Given the description of an element on the screen output the (x, y) to click on. 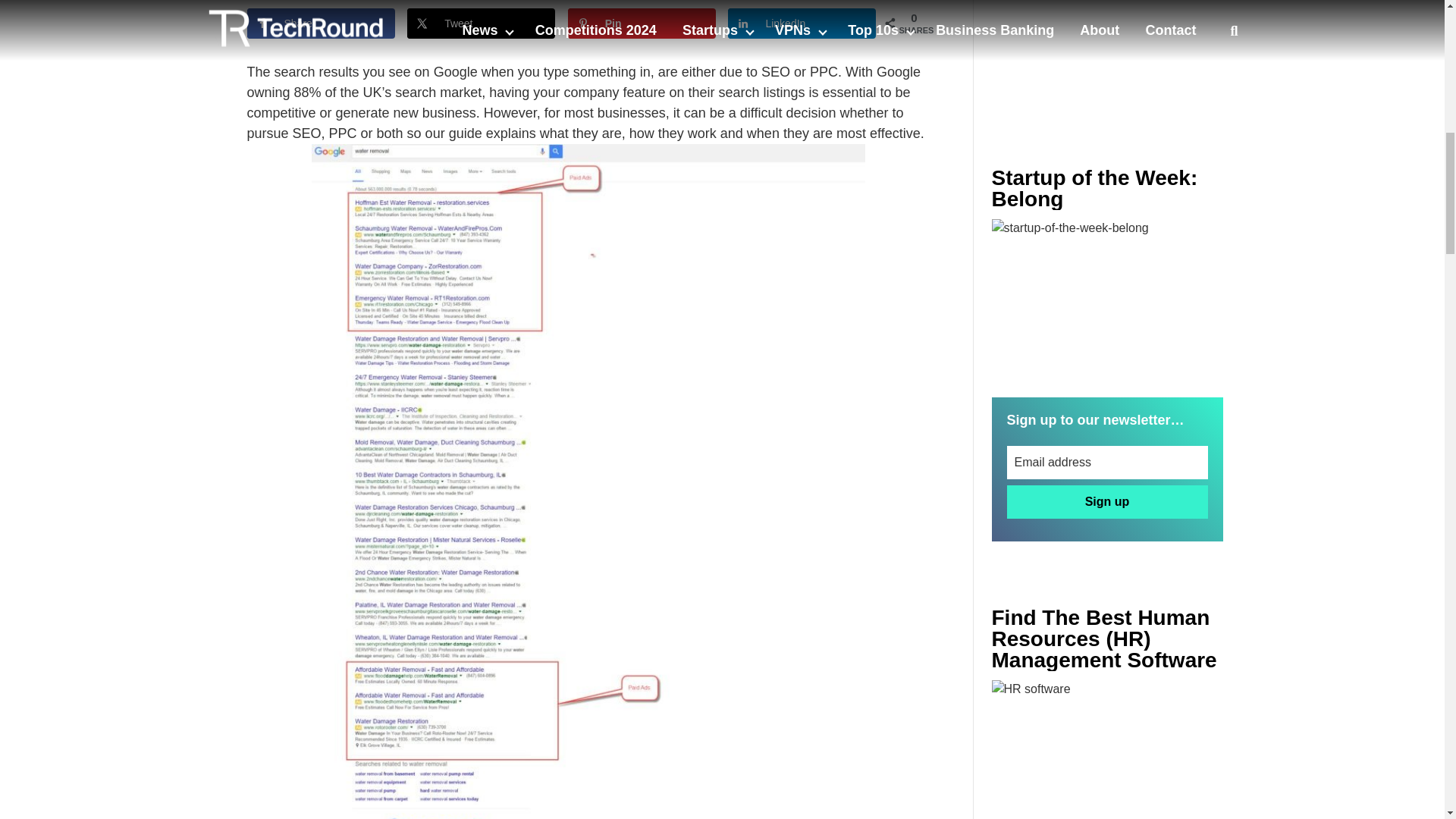
Enter The BAME Top 50 Entrepreneurs - Deadline 10th Nov 2021 (1107, 749)
Save to Pinterest (641, 23)
Startup of the Week: Neon Link (1107, 296)
Sign up (1107, 501)
Share on X (480, 23)
Share on LinkedIn (802, 23)
Share on Facebook (320, 23)
